Given the description of an element on the screen output the (x, y) to click on. 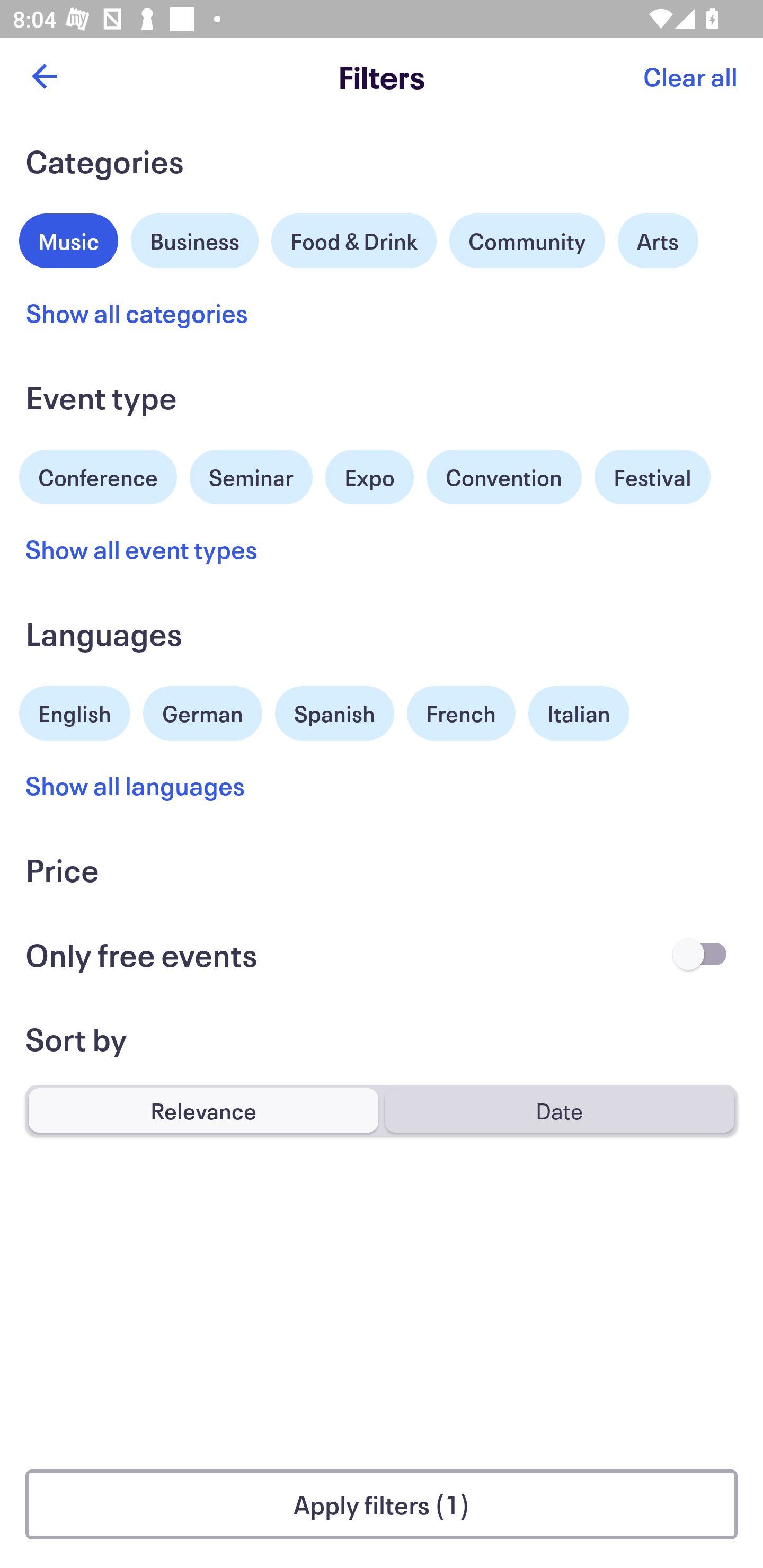
Back button (44, 75)
Clear all (690, 75)
Music (68, 238)
Business (194, 238)
Food & Drink (353, 240)
Community (527, 240)
Arts (658, 240)
Show all categories (136, 312)
Conference (98, 475)
Seminar (250, 477)
Expo (369, 477)
Convention (503, 477)
Festival (652, 477)
Show all event types (141, 548)
English (74, 710)
German (202, 710)
Spanish (334, 713)
French (460, 713)
Italian (578, 713)
Show all languages (135, 784)
Relevance (203, 1109)
Date (559, 1109)
Apply filters (1) (381, 1504)
